Given the description of an element on the screen output the (x, y) to click on. 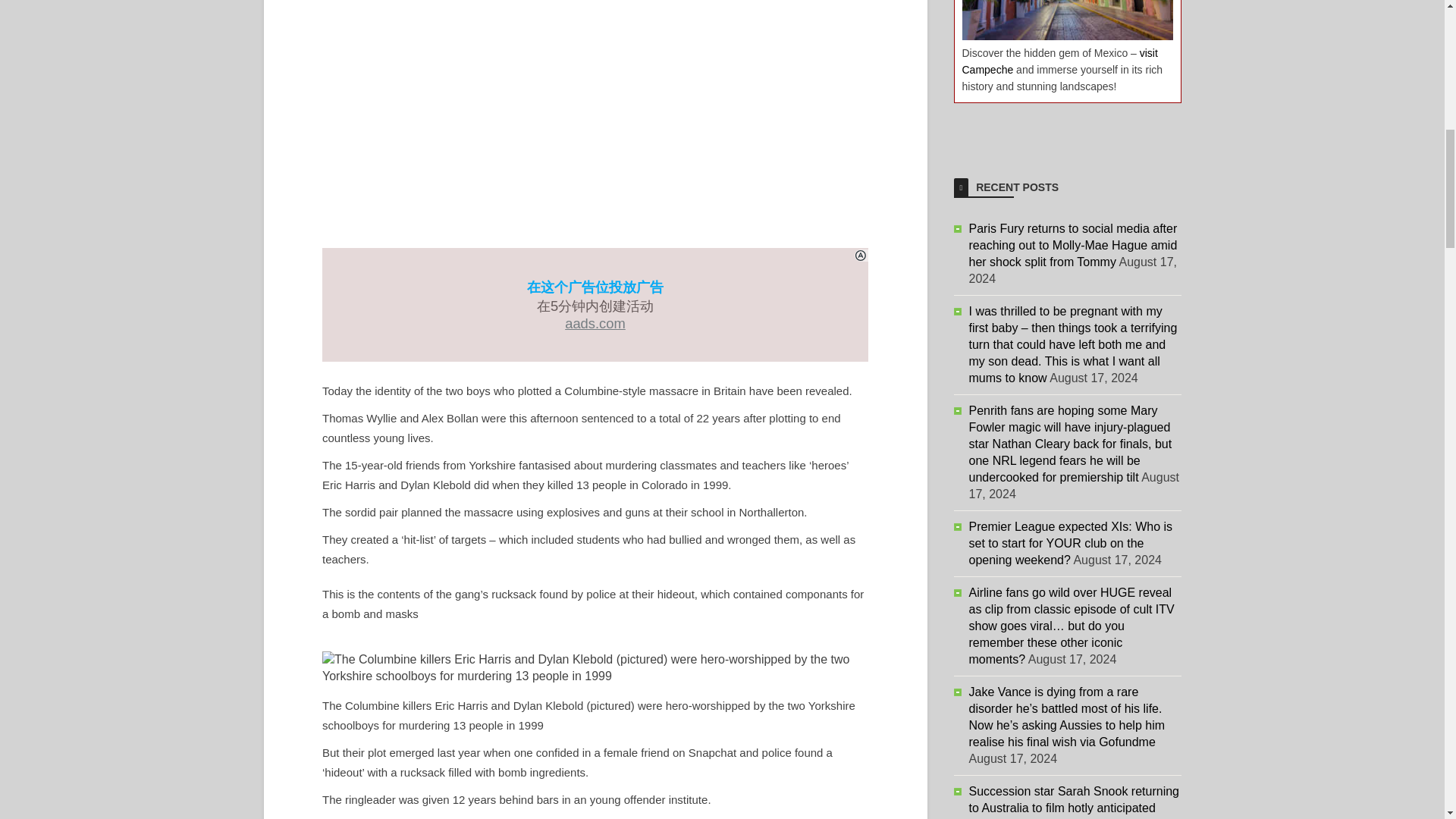
visit Campeche (1058, 61)
